Given the description of an element on the screen output the (x, y) to click on. 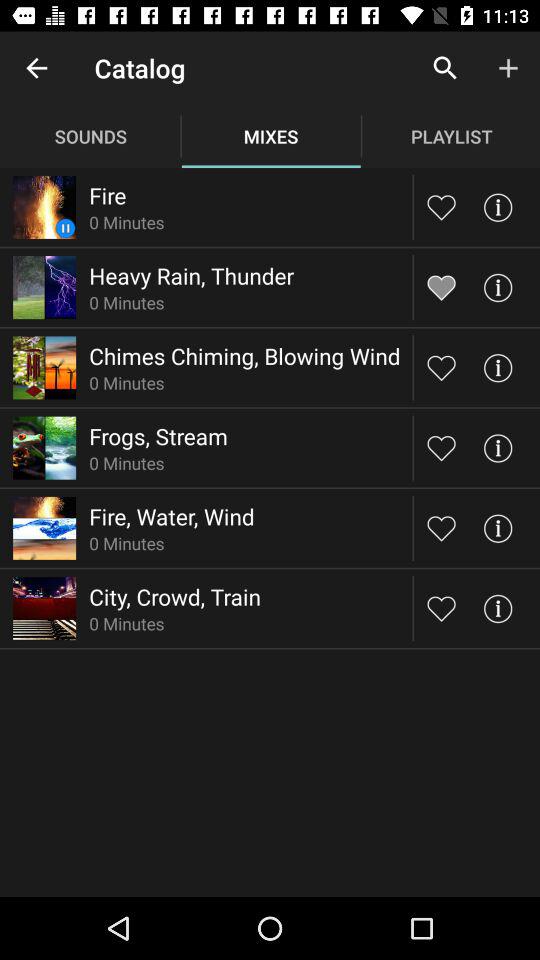
favorite this (441, 447)
